Given the description of an element on the screen output the (x, y) to click on. 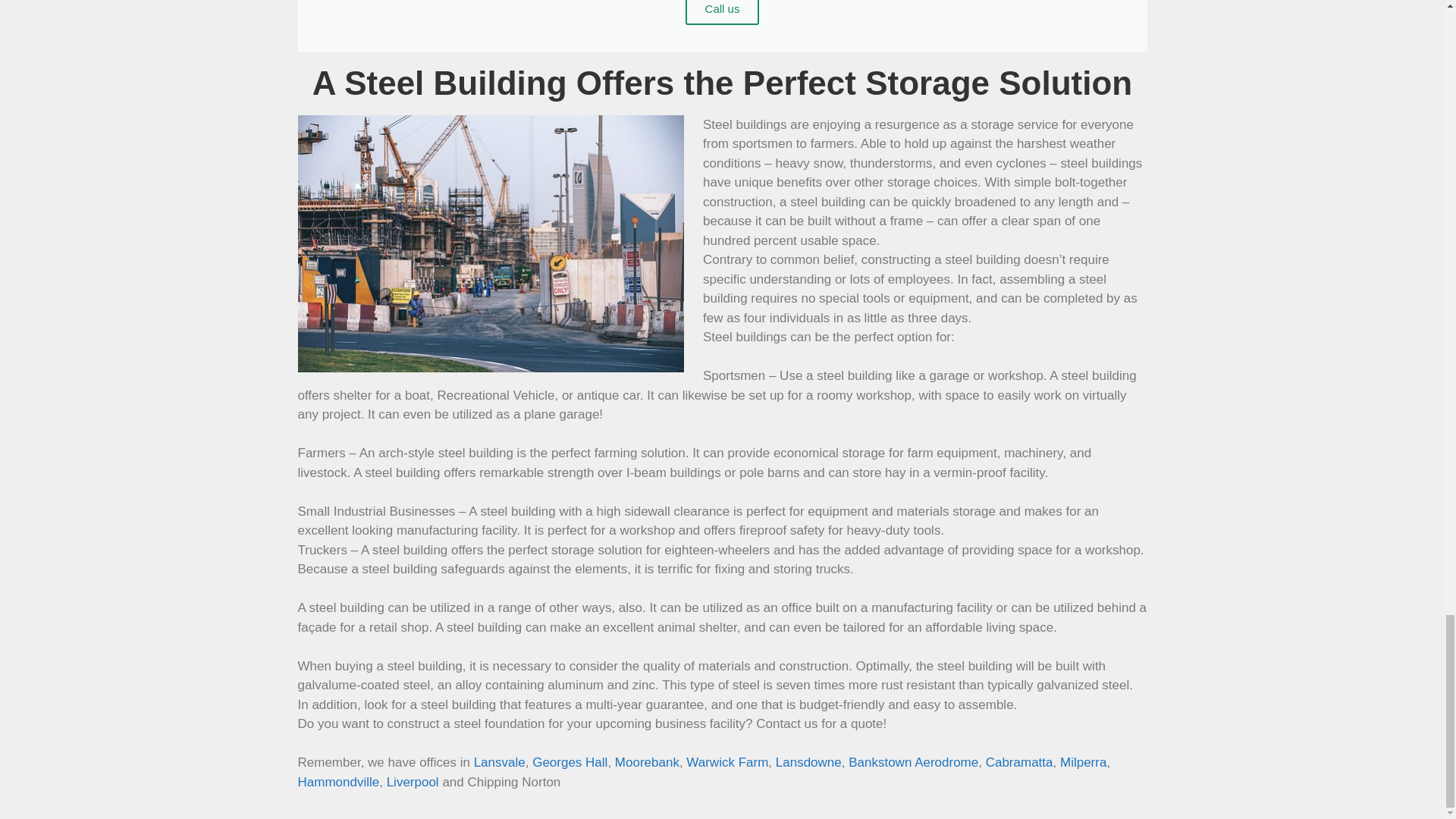
Call us (722, 12)
Bankstown Aerodrome (913, 762)
Georges Hall (569, 762)
Liverpool (413, 781)
Warwick Farm (726, 762)
Hammondville (337, 781)
Lansvale (499, 762)
Moorebank (646, 762)
Lansdowne (808, 762)
Milperra (1082, 762)
Cabramatta (1018, 762)
